Given the description of an element on the screen output the (x, y) to click on. 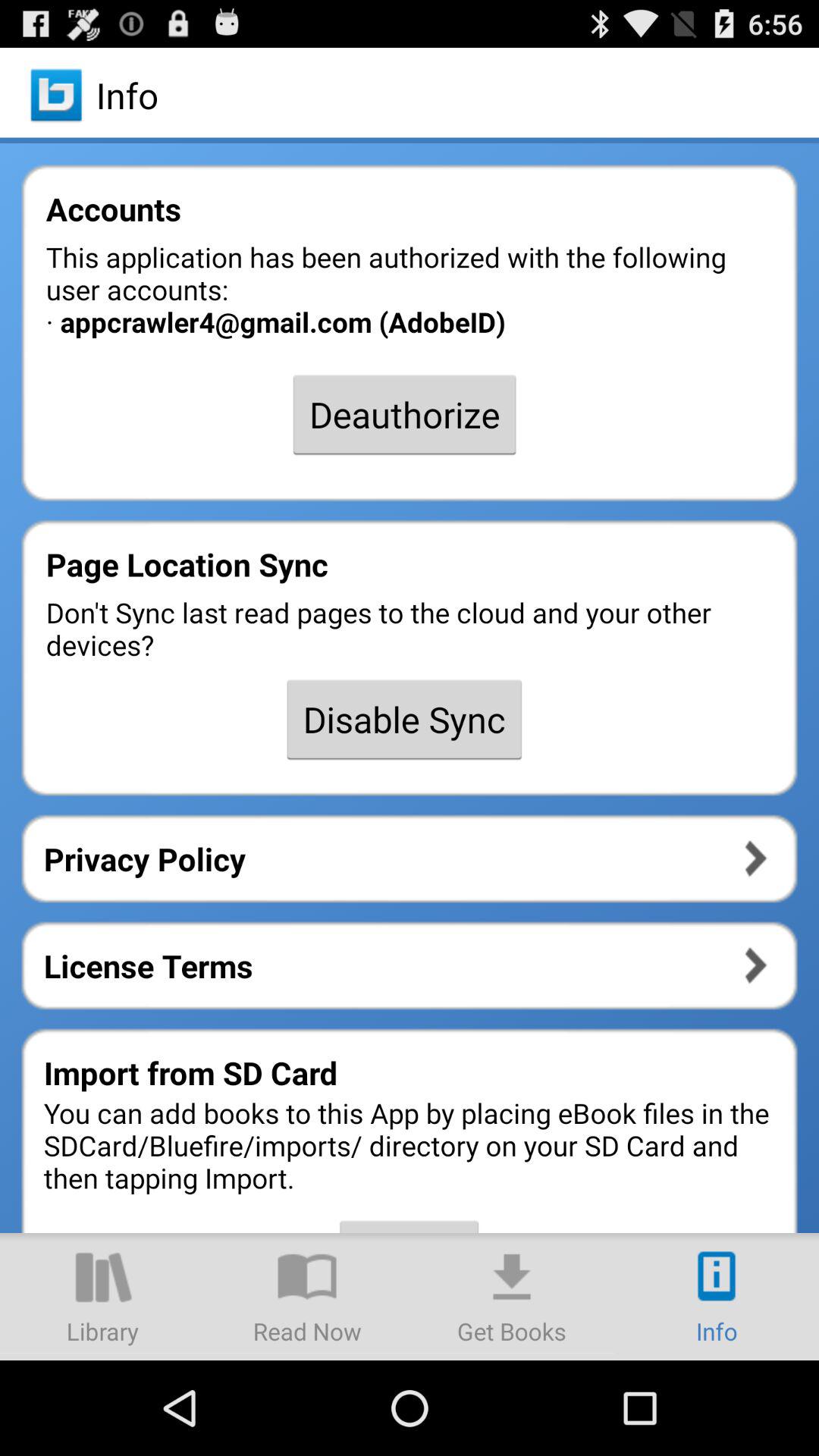
jump to the deauthorize icon (404, 414)
